Given the description of an element on the screen output the (x, y) to click on. 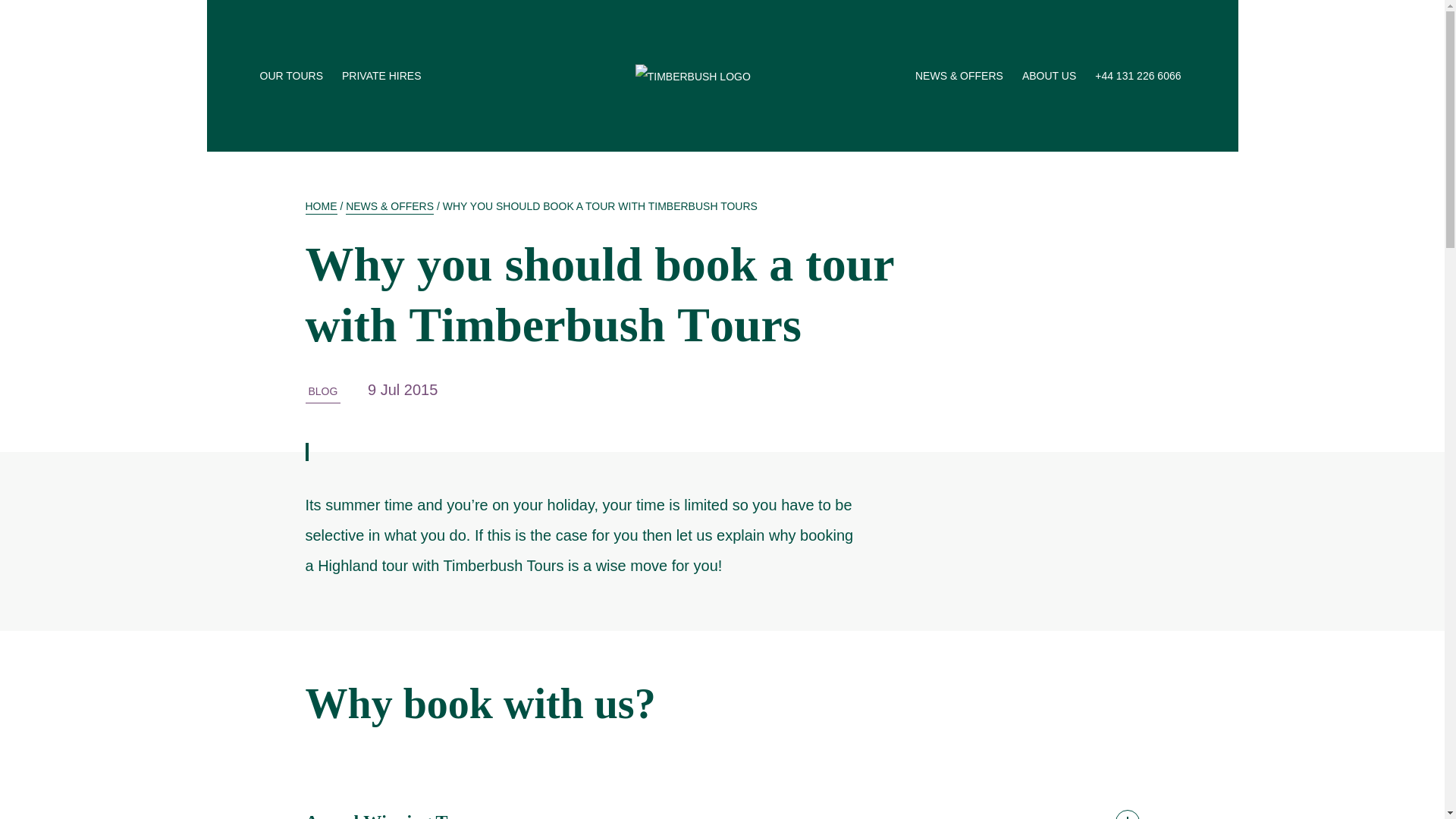
OUR TOURS (292, 75)
ABOUT US (1050, 75)
PRIVATE HIRES (383, 75)
